Given the description of an element on the screen output the (x, y) to click on. 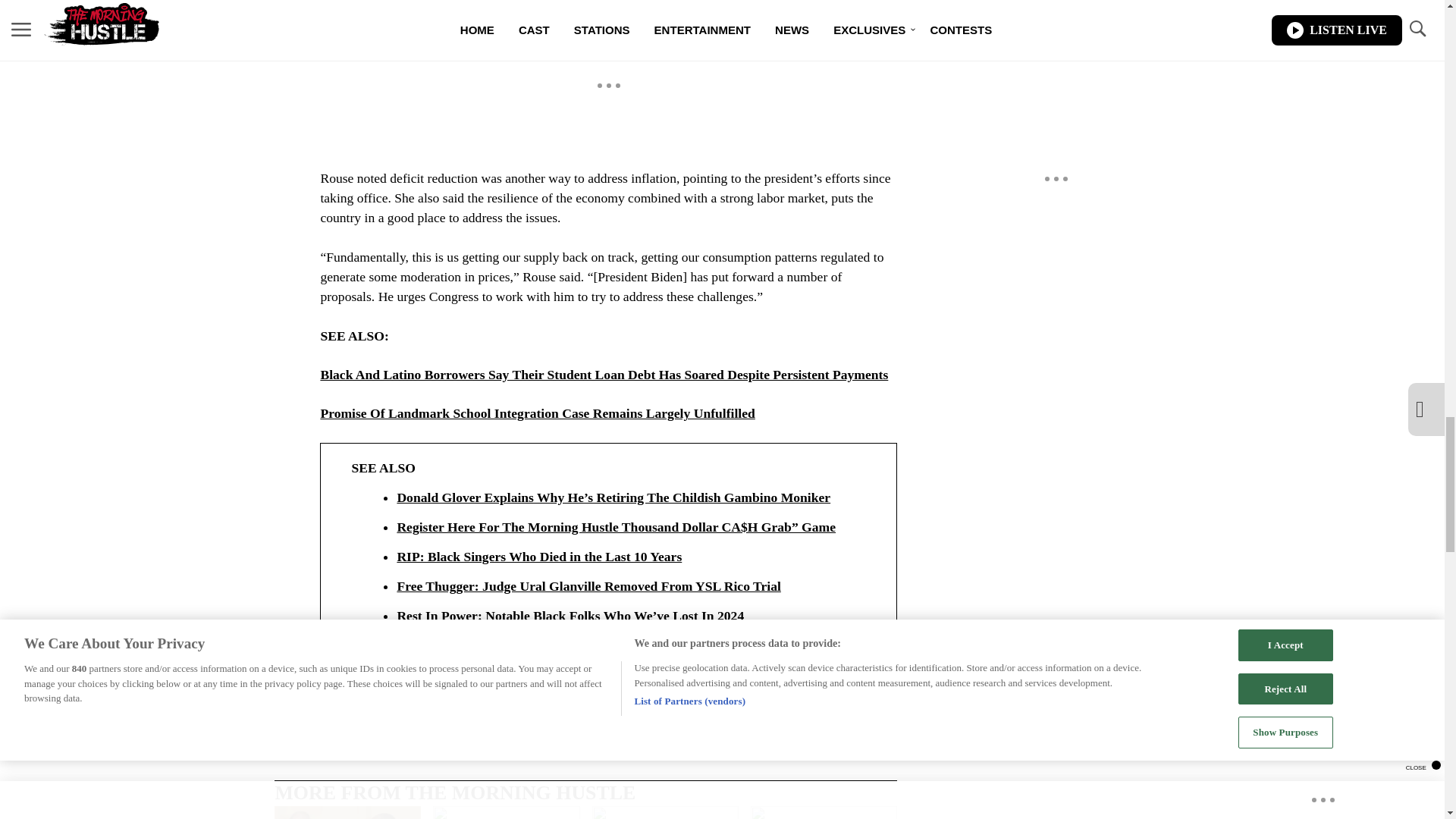
RIP: Black Singers Who Died in the Last 10 Years (623, 556)
